Given the description of an element on the screen output the (x, y) to click on. 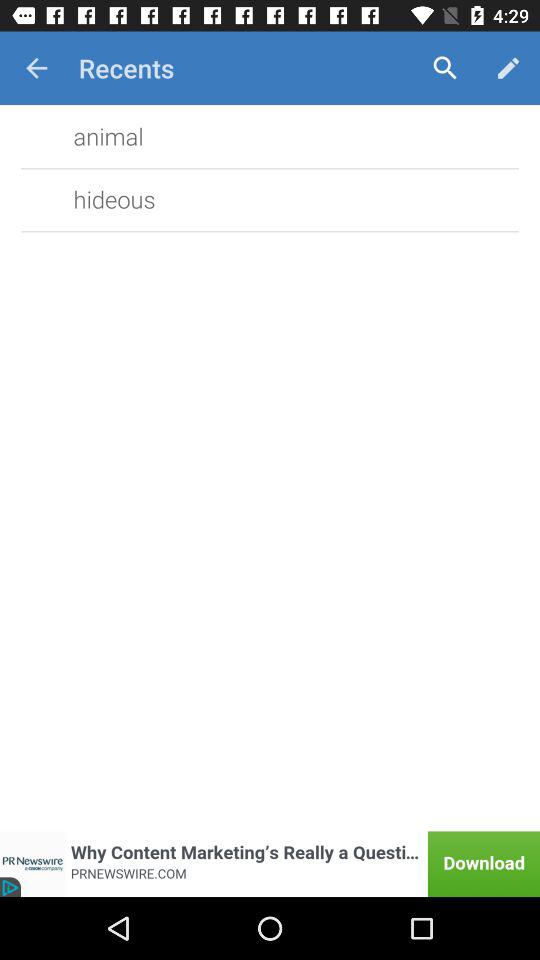
loads an advertisement (270, 864)
